Given the description of an element on the screen output the (x, y) to click on. 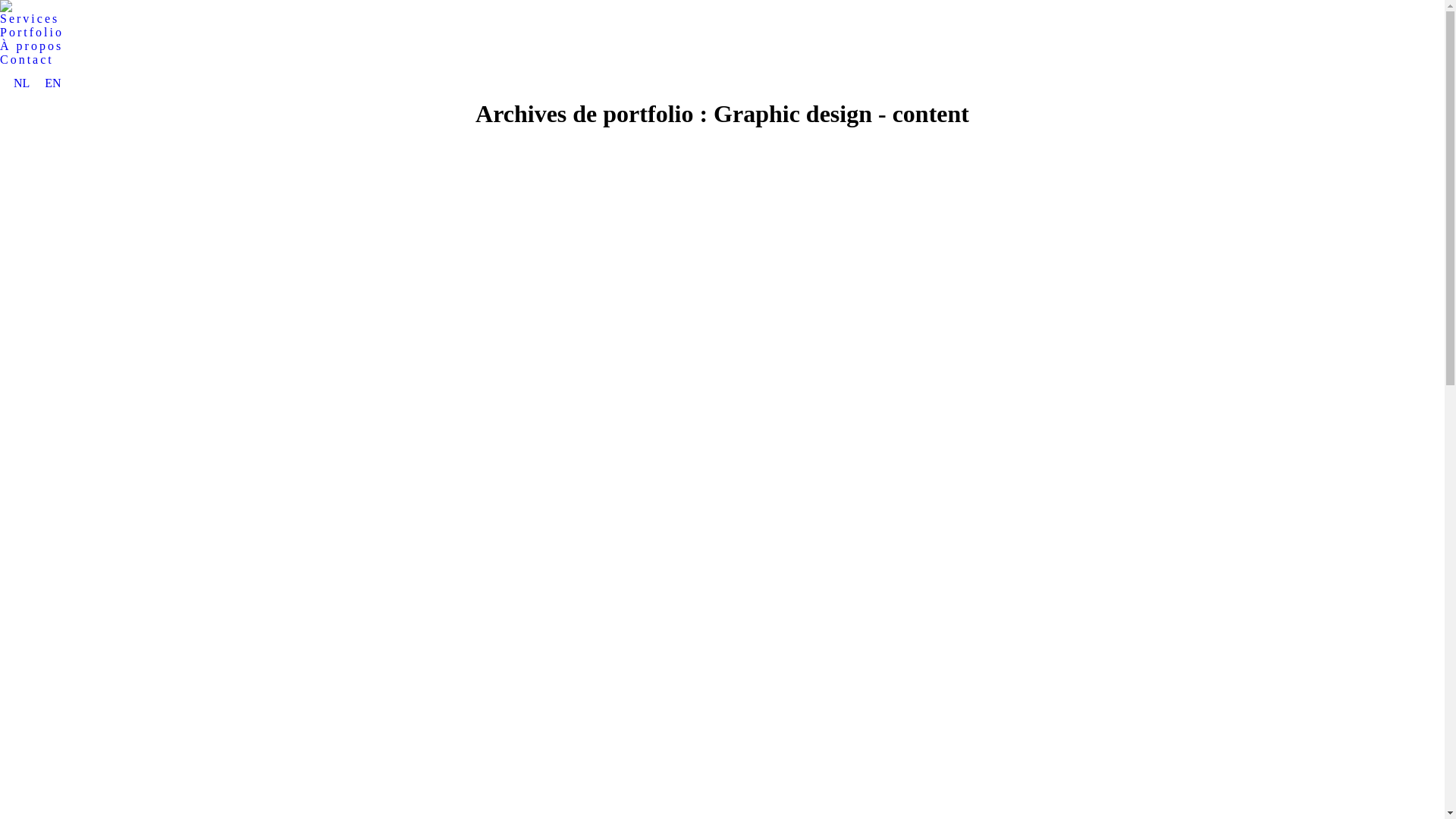
Services Element type: text (29, 18)
Contact Element type: text (26, 59)
Portfolio Element type: text (31, 32)
EN Element type: text (52, 83)
NL Element type: text (21, 83)
